Given the description of an element on the screen output the (x, y) to click on. 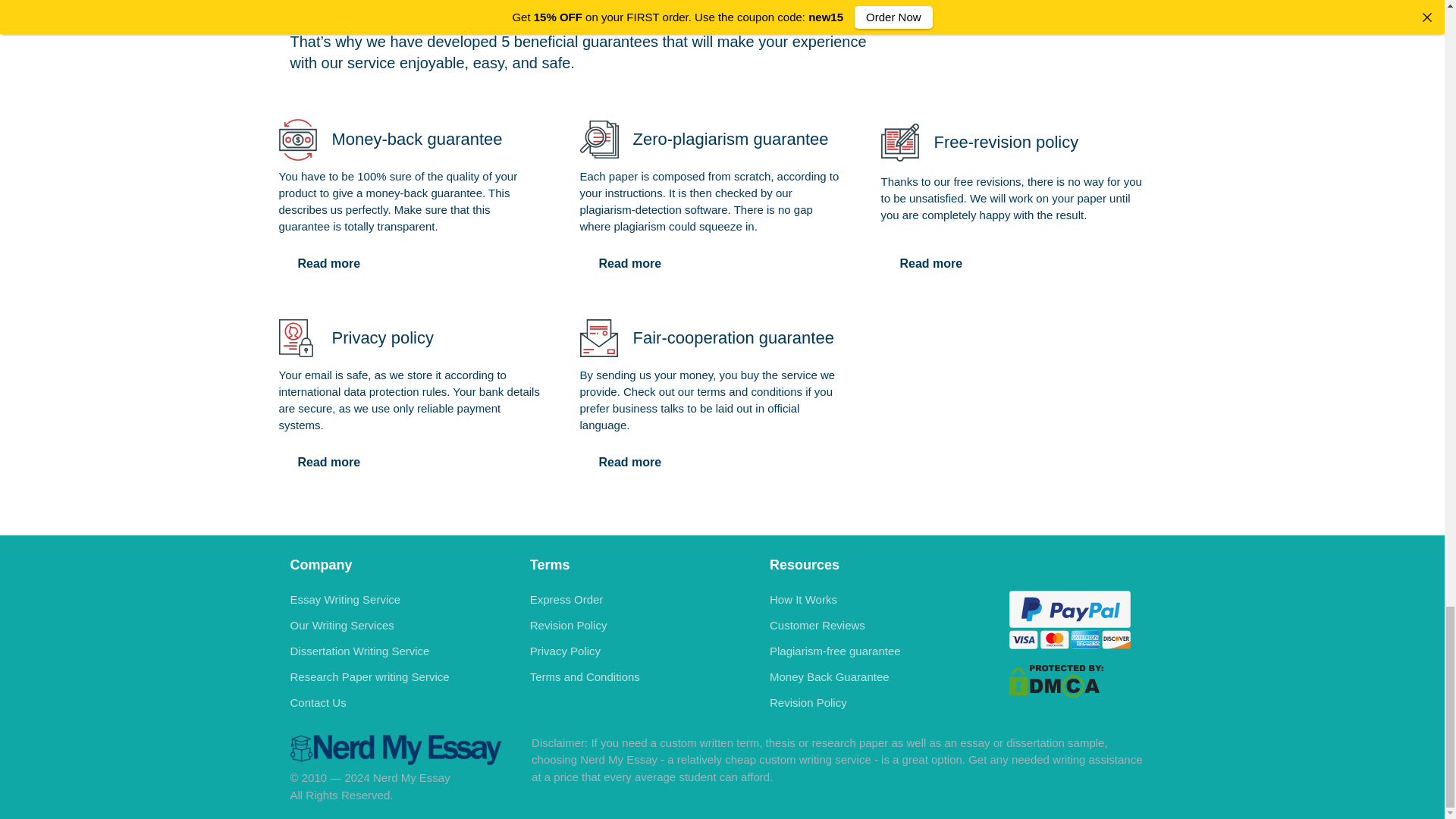
Express Order (566, 599)
Essay Writing Service (344, 599)
DMCA (1056, 680)
Dissertation Writing Service (359, 650)
Read more (930, 264)
Read more (629, 462)
Our Writing Services (341, 625)
Read more (629, 264)
Contact Us (317, 702)
Read more (329, 264)
Research Paper writing Service (368, 676)
Read more (329, 462)
